Given the description of an element on the screen output the (x, y) to click on. 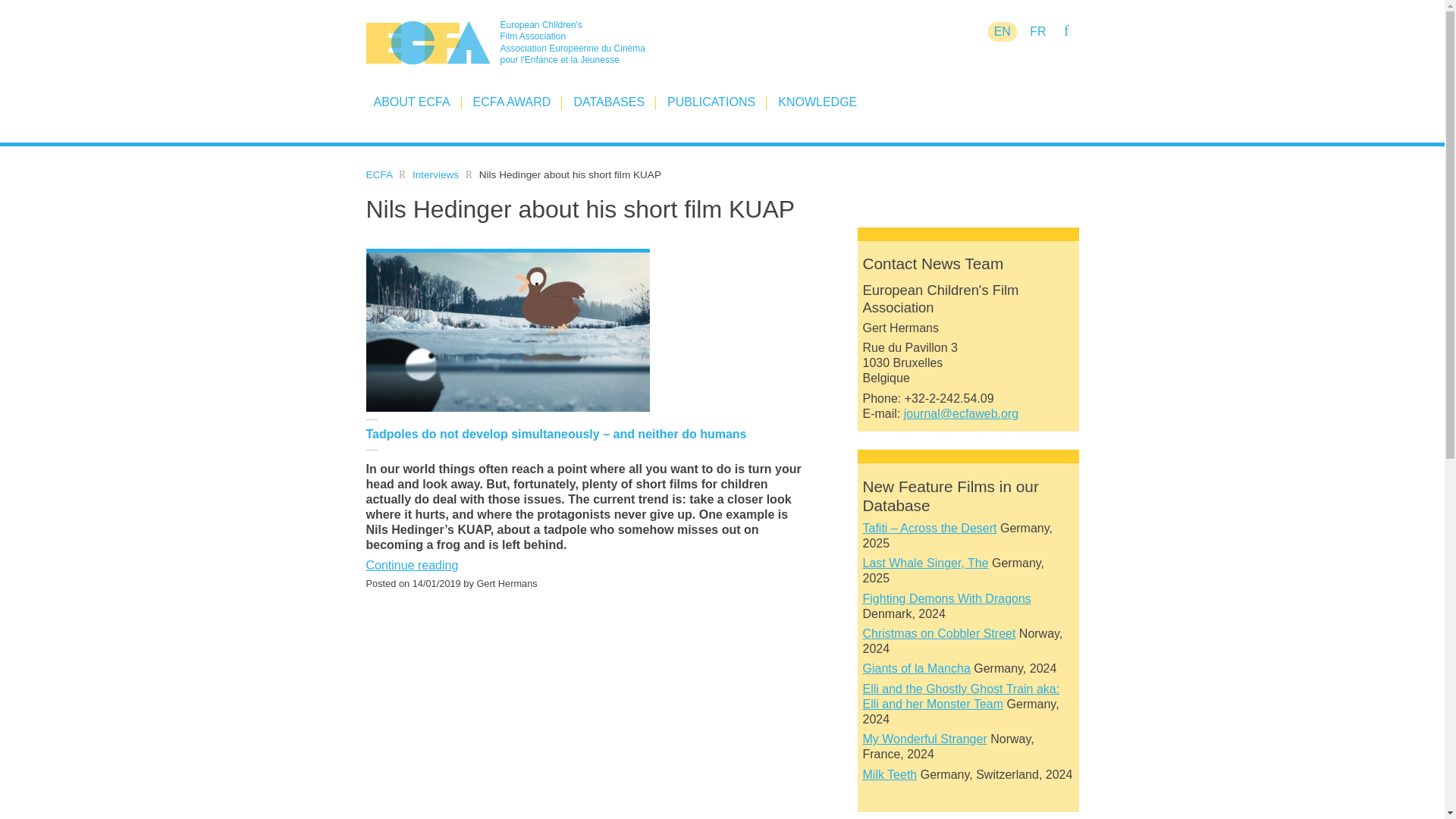
Visit ECFA on facebook! (1064, 30)
ABOUT ECFA (411, 102)
FR (1037, 31)
Click for further information! (917, 667)
DATABASES (609, 102)
EN (1002, 31)
Click for further information! (939, 633)
Click for further information! (961, 696)
ECFA (378, 174)
Click for further information! (946, 598)
f (1064, 30)
Click for further information! (925, 738)
KNOWLEDGE (817, 102)
PUBLICATIONS (710, 102)
Click for further information! (930, 527)
